Given the description of an element on the screen output the (x, y) to click on. 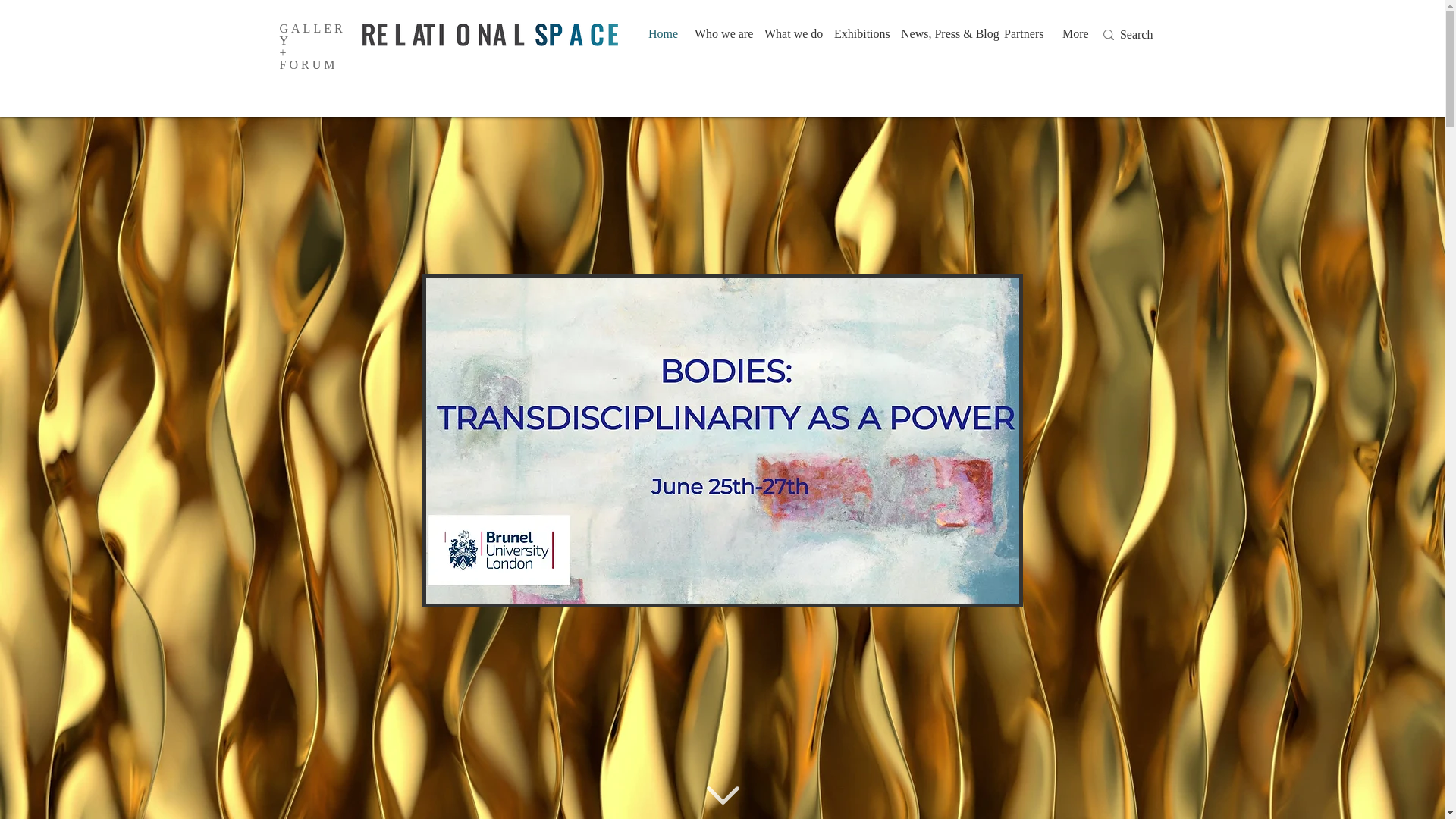
What we do (787, 34)
Partners (1021, 34)
Who we are (717, 34)
Exhibitions (855, 34)
Home (659, 34)
